Given the description of an element on the screen output the (x, y) to click on. 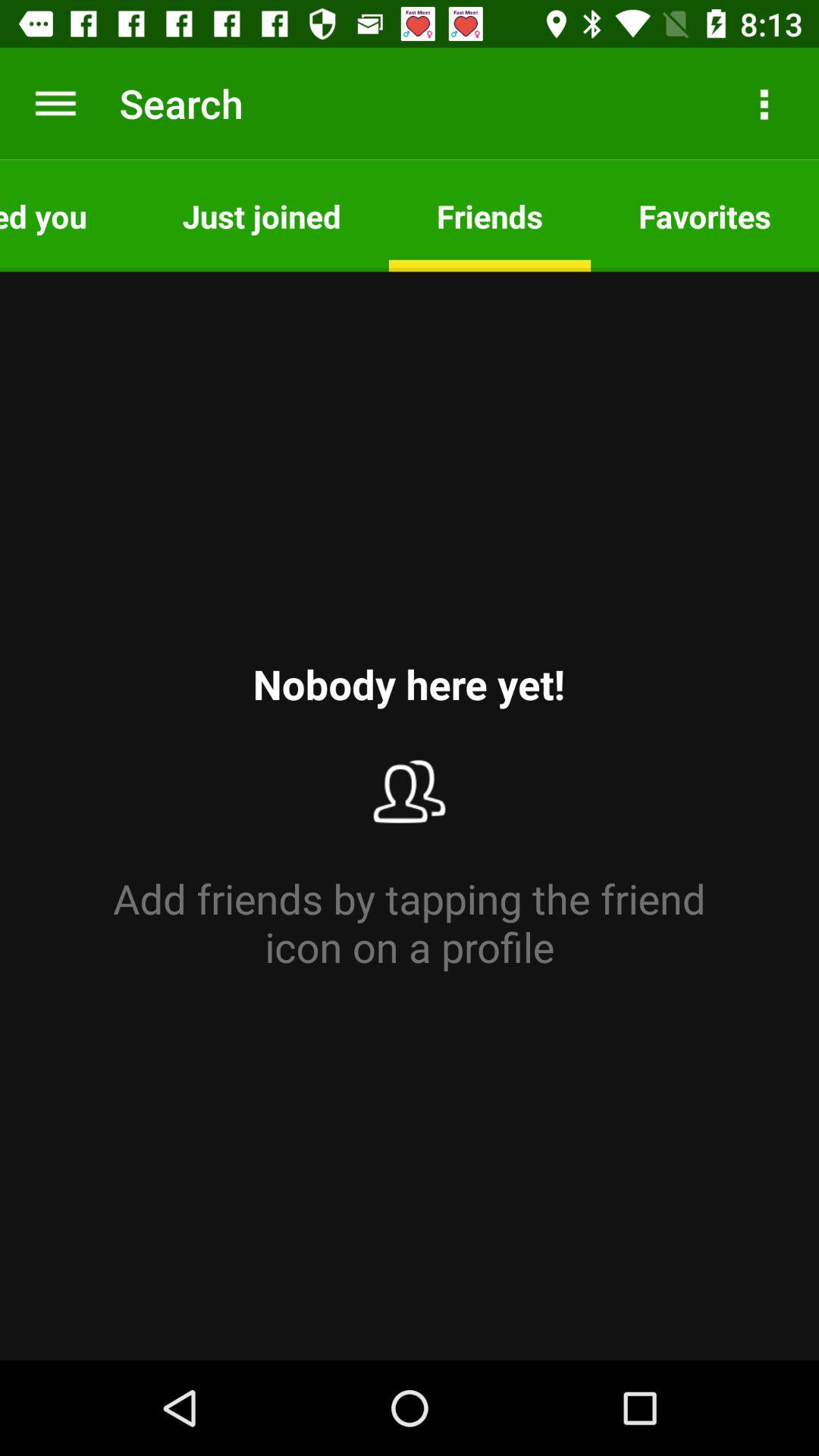
jump until favorites app (704, 215)
